Given the description of an element on the screen output the (x, y) to click on. 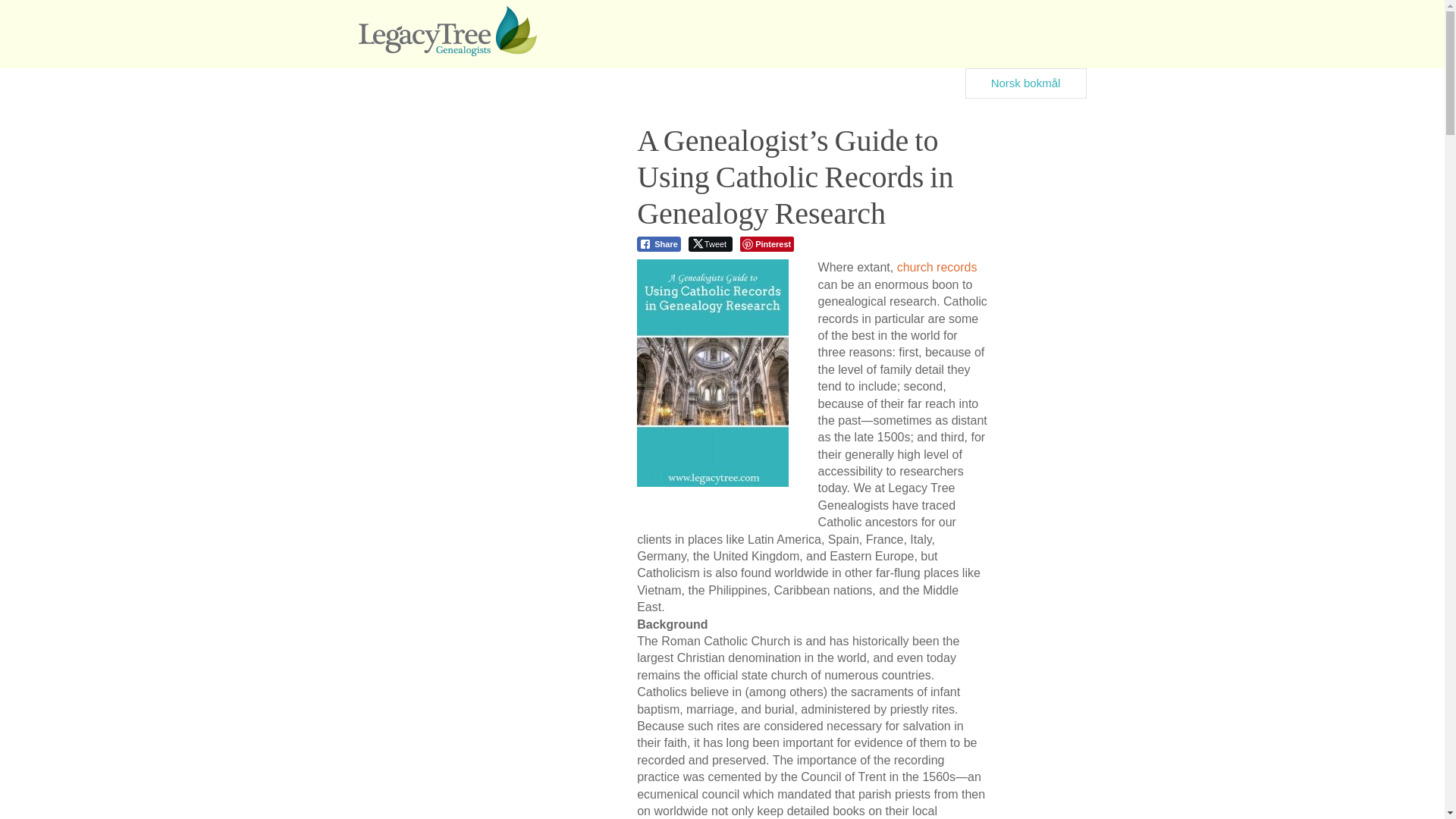
Tweet (710, 243)
Pinterest (766, 243)
church records (936, 267)
Share (659, 243)
